Given the description of an element on the screen output the (x, y) to click on. 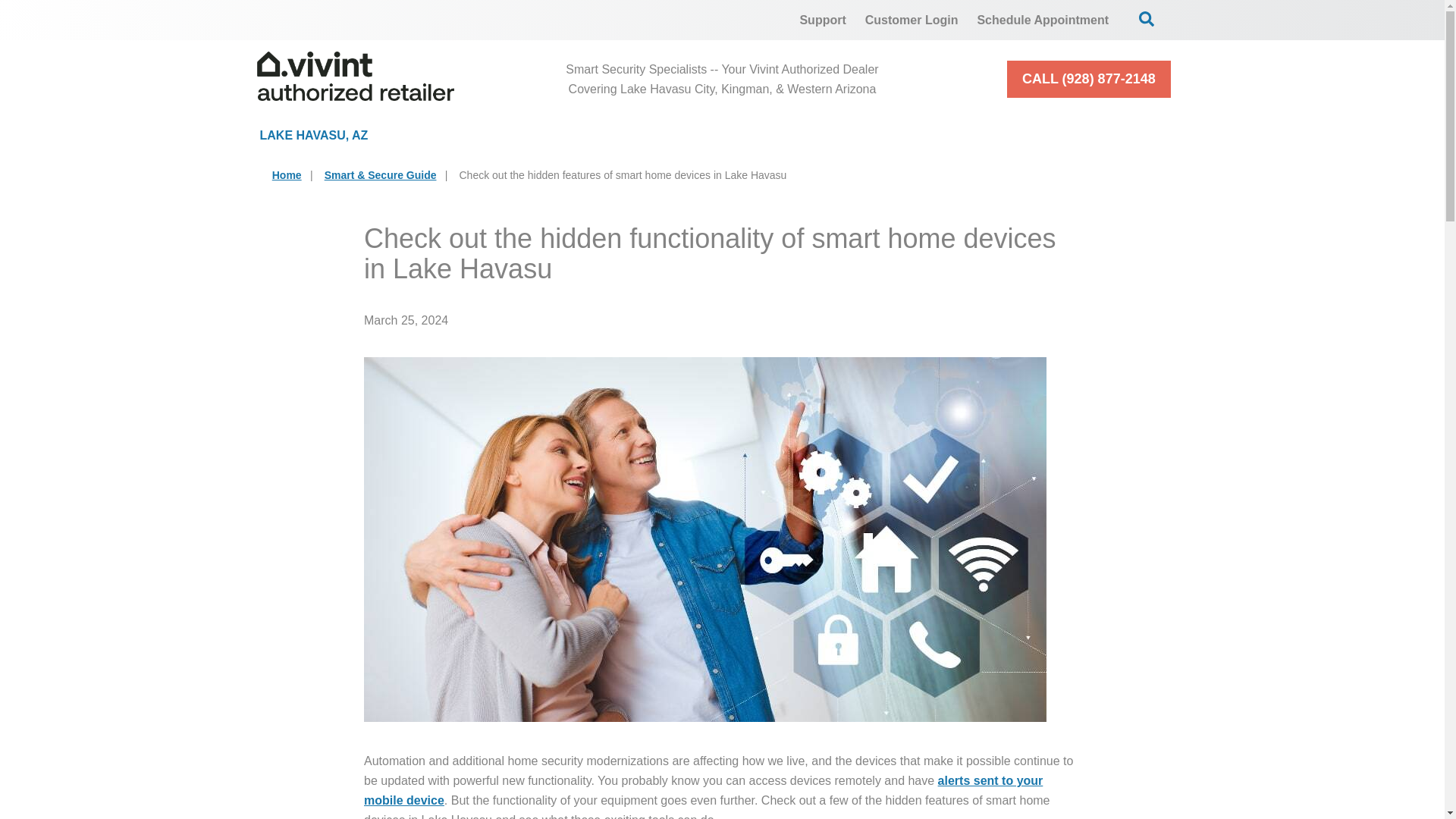
Smart Home Automation (869, 135)
Cameras (672, 135)
Notifications sent to your smartphone (703, 789)
Open Search (1146, 18)
Schedule Appointment (1042, 20)
Home Security (503, 135)
Customer Login (911, 20)
Home (286, 174)
Support (822, 20)
alerts sent to your mobile device (703, 789)
